Given the description of an element on the screen output the (x, y) to click on. 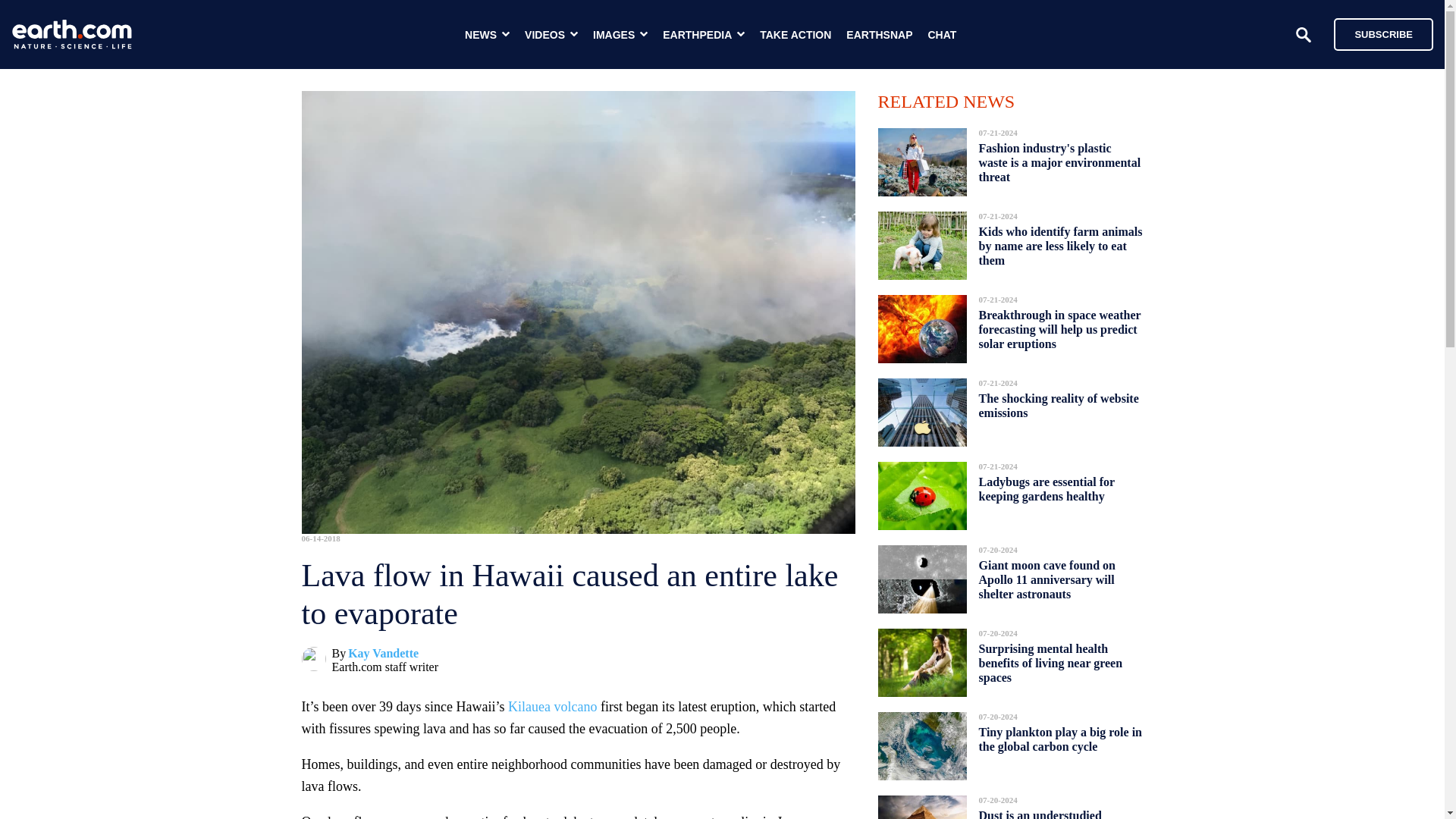
Ladybugs are essential for keeping gardens healthy (1045, 488)
Kay Vandette (383, 653)
TAKE ACTION (795, 34)
Kilauea volcano (552, 706)
SUBSCRIBE (1382, 34)
CHAT (941, 34)
SUBSCRIBE (1375, 33)
Dust is an understudied contributor to climate change (1054, 810)
EARTHSNAP (878, 34)
Tiny plankton play a big role in the global carbon cycle (1059, 739)
